Given the description of an element on the screen output the (x, y) to click on. 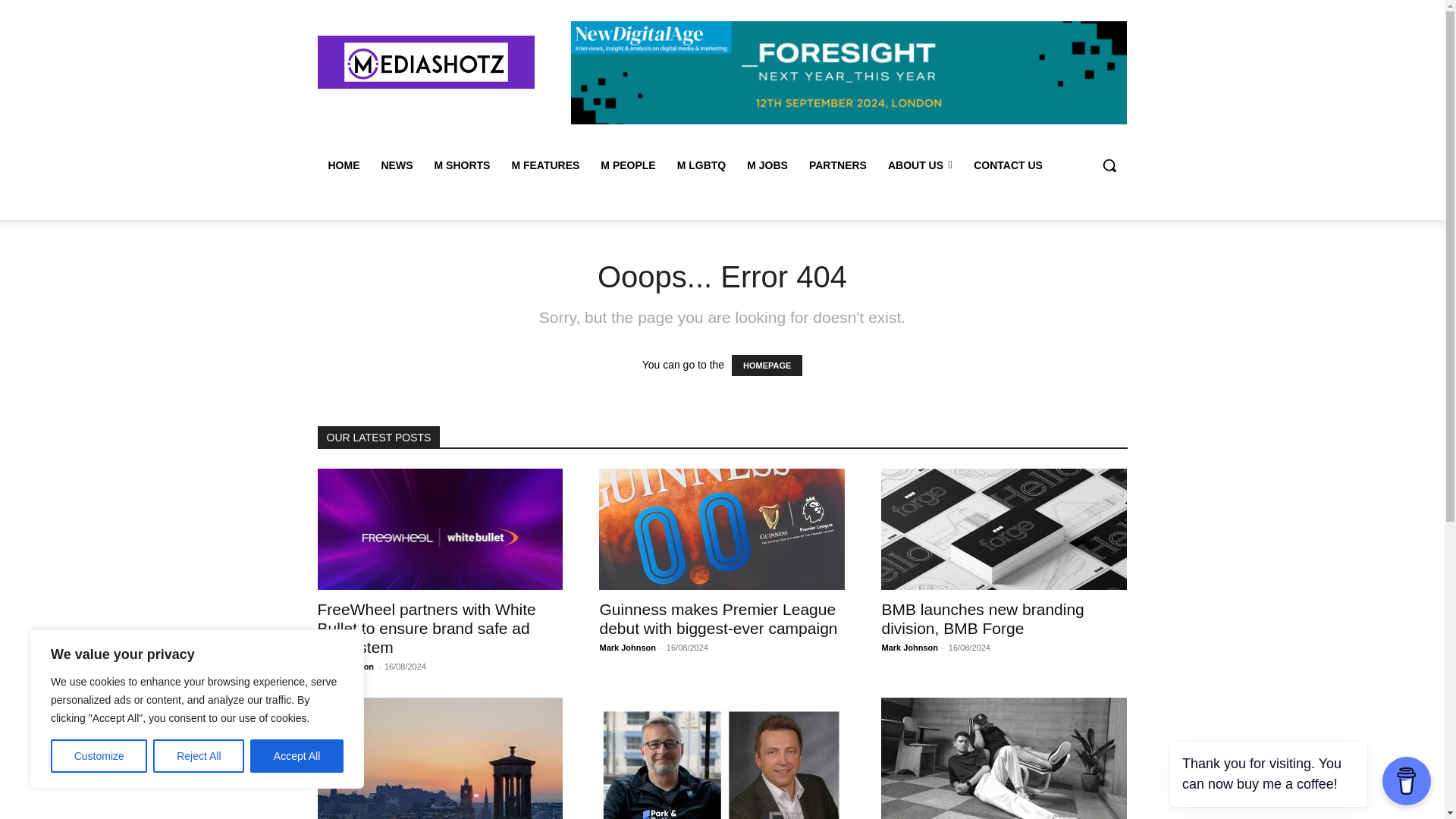
Accept All (296, 756)
Customize (98, 756)
Reject All (198, 756)
